Given the description of an element on the screen output the (x, y) to click on. 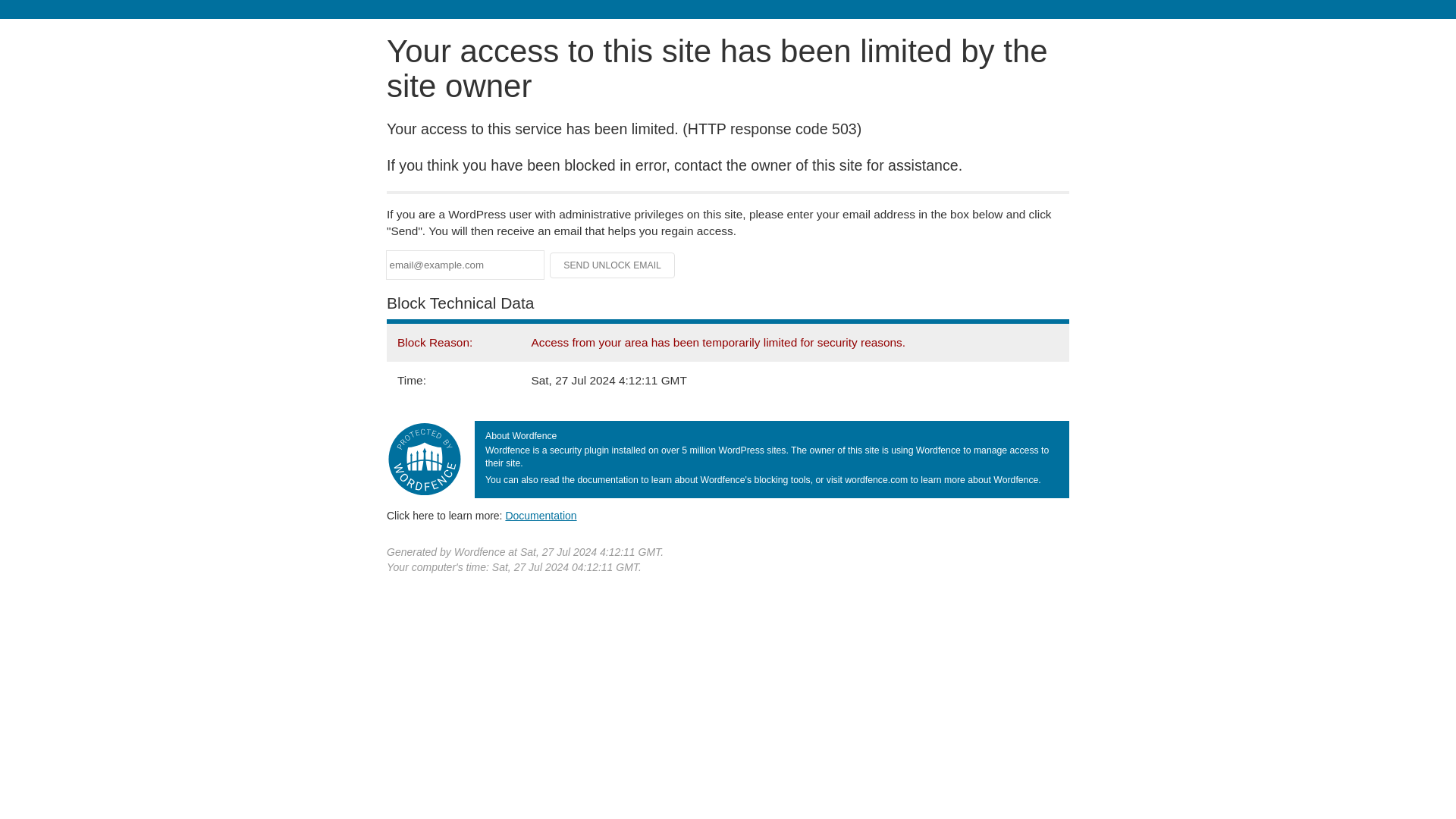
Send Unlock Email (612, 265)
Documentation (540, 515)
Send Unlock Email (612, 265)
